Given the description of an element on the screen output the (x, y) to click on. 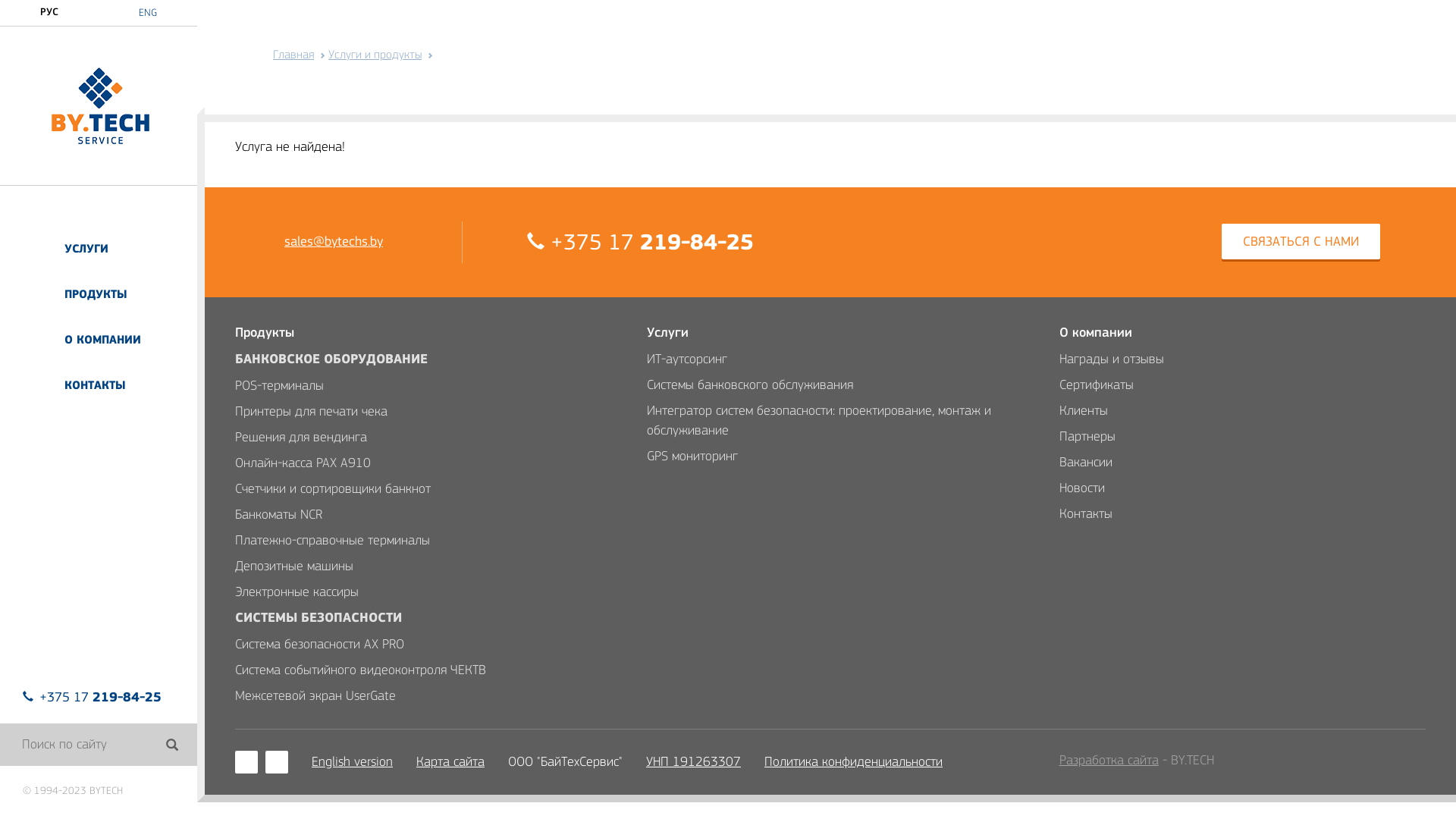
sales@bytechs.by Element type: text (333, 242)
English version Element type: text (351, 761)
+375 17 219-84-25 Element type: text (640, 241)
+375 17 219-84-25 Element type: text (91, 697)
ENG Element type: text (147, 12)
